Given the description of an element on the screen output the (x, y) to click on. 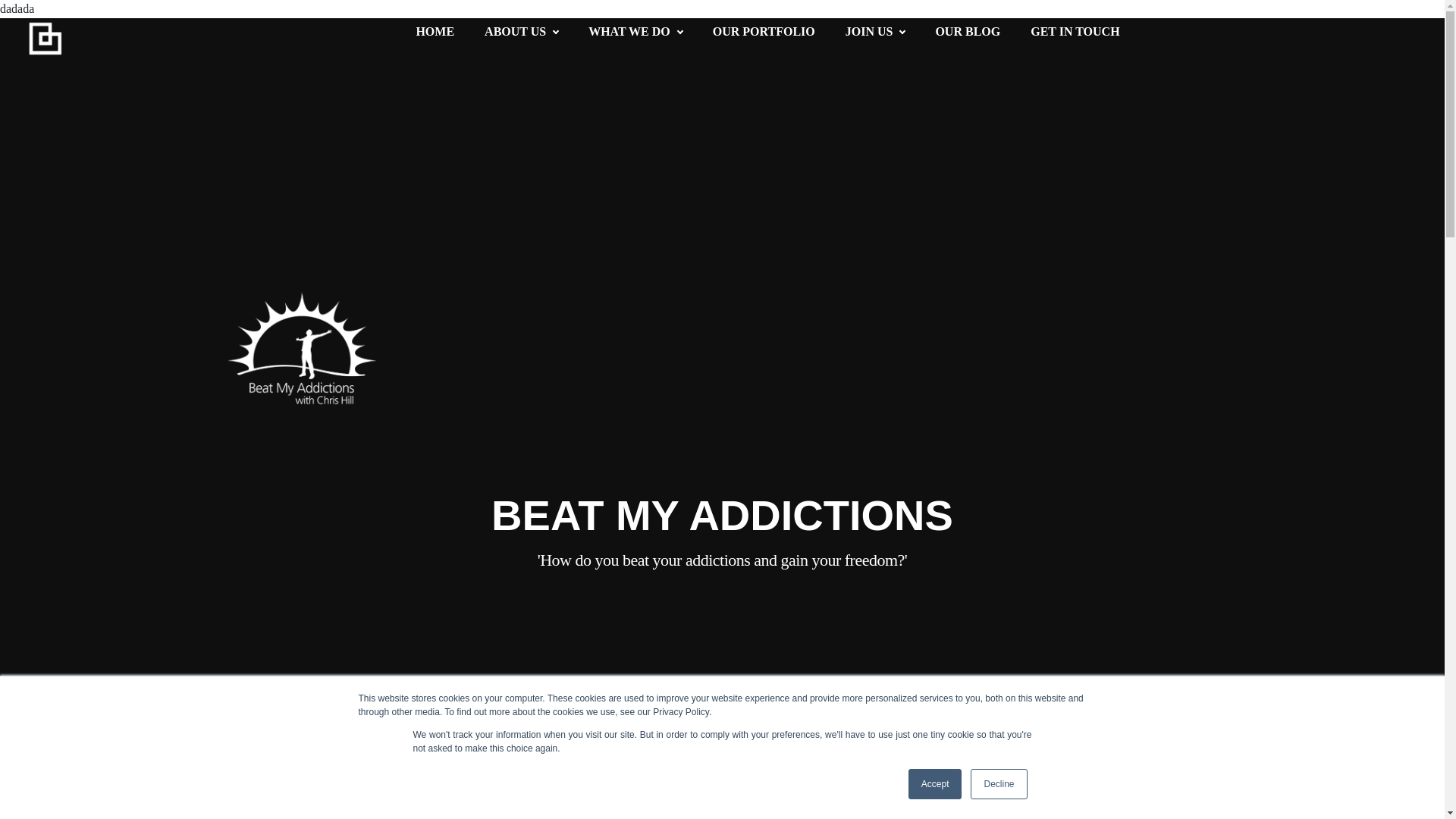
JOIN US (869, 31)
Decline (998, 784)
ABOUT US (515, 31)
WHAT WE DO (628, 31)
SCROLL DOWN (1368, 805)
HOME (434, 31)
OUR PORTFOLIO (764, 31)
Accept (935, 784)
